Given the description of an element on the screen output the (x, y) to click on. 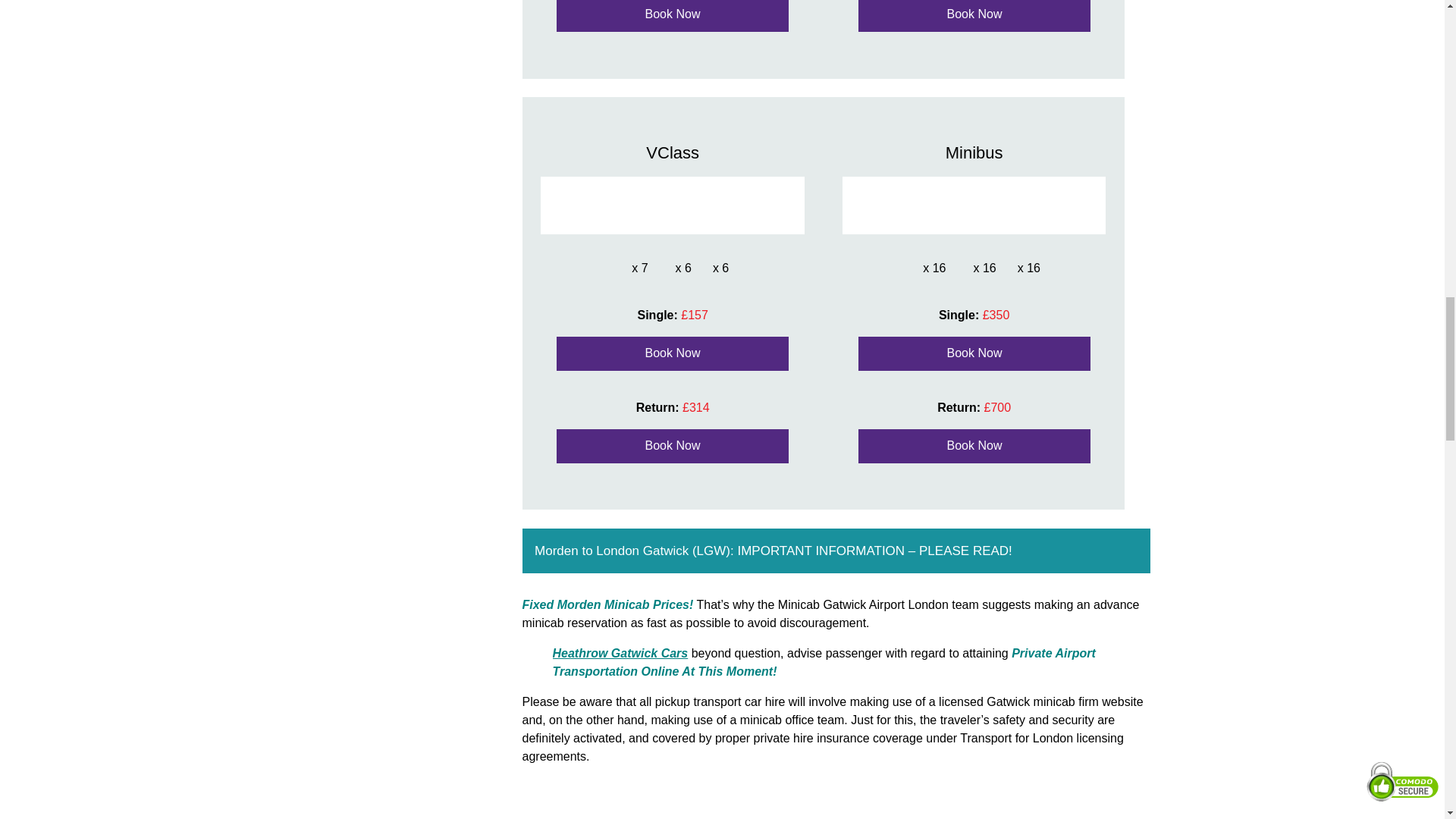
Heathrow Gatwick Cars (619, 653)
Book Now (672, 15)
cost morden south to gatwick airport (673, 798)
Book Now (672, 446)
Book Now (672, 353)
Book Now (974, 446)
Book Now (974, 15)
Book Now (974, 353)
Morden Taxi Service (619, 653)
